Given the description of an element on the screen output the (x, y) to click on. 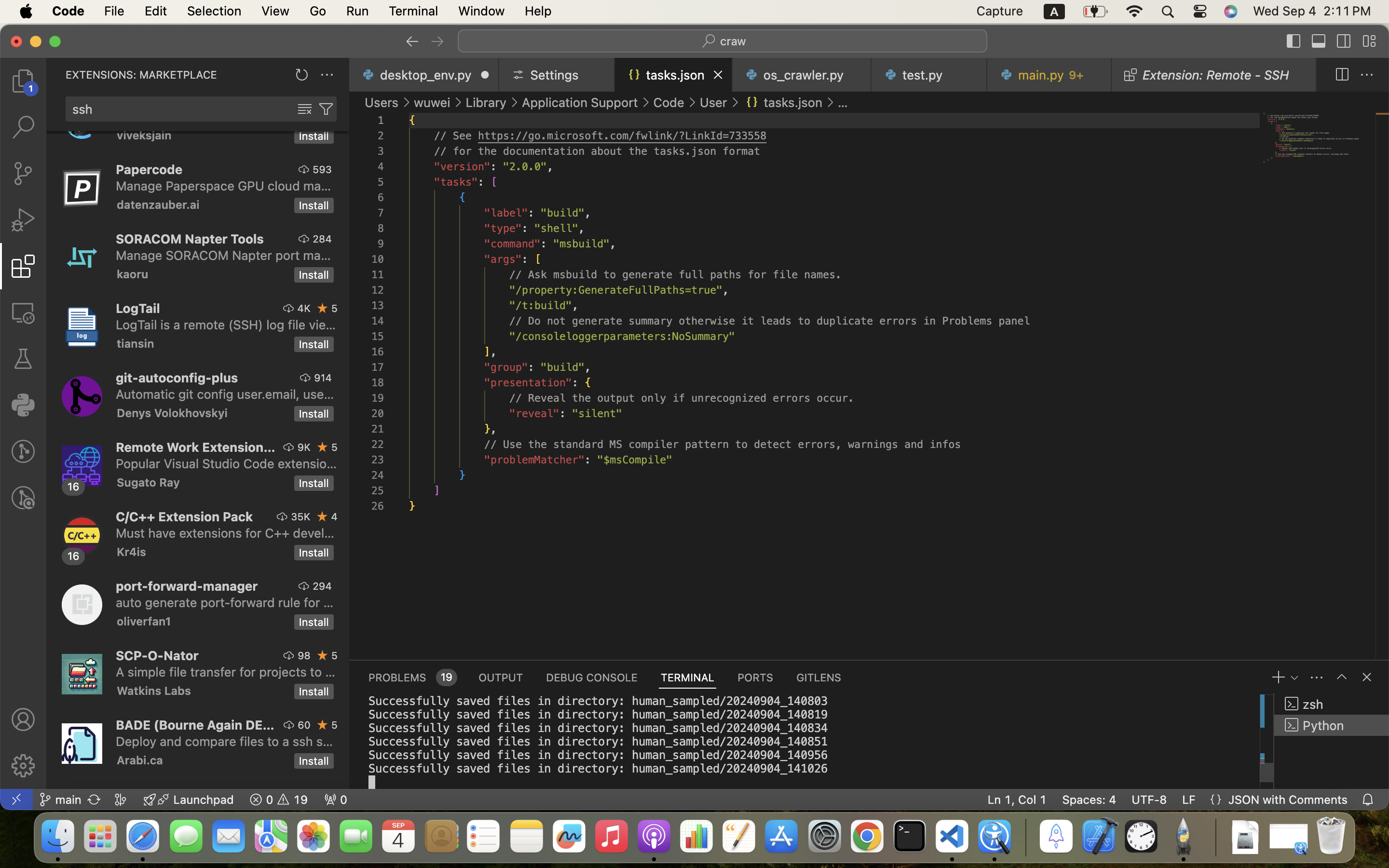
0  Element type: AXRadioButton (23, 173)
294 Element type: AXStaticText (321, 585)
zsh  Element type: AXGroup (1331, 703)
tiansin Element type: AXStaticText (135, 343)
LogTail is a remote (SSH) log file viewer and monitoring extension. Element type: AXStaticText (225, 324)
